Given the description of an element on the screen output the (x, y) to click on. 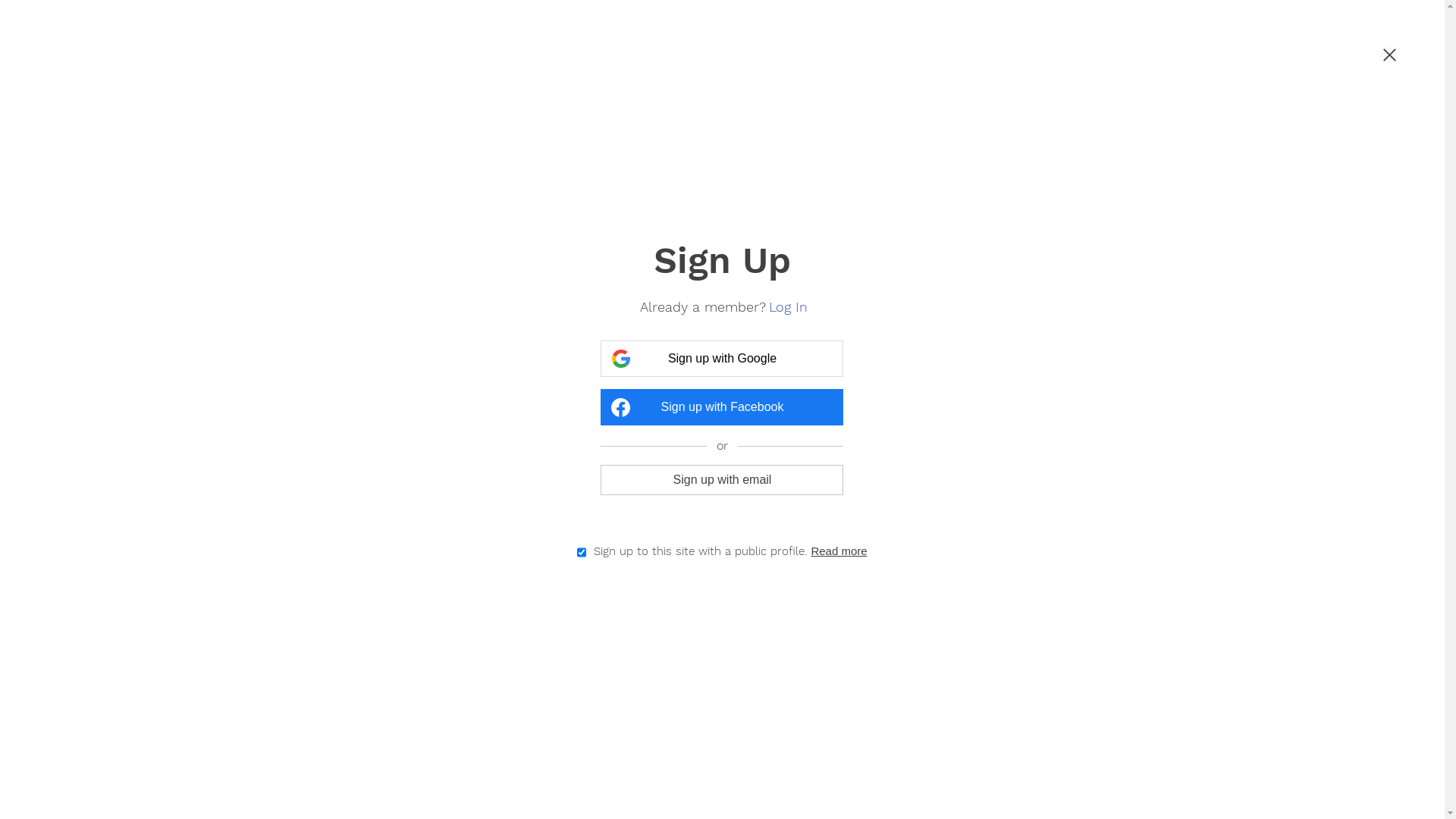
Sign up with Google Element type: text (721, 358)
Sign up with email Element type: text (721, 479)
Read more Element type: text (840, 551)
Sign up with Facebook Element type: text (721, 407)
Log In Element type: text (788, 306)
